Given the description of an element on the screen output the (x, y) to click on. 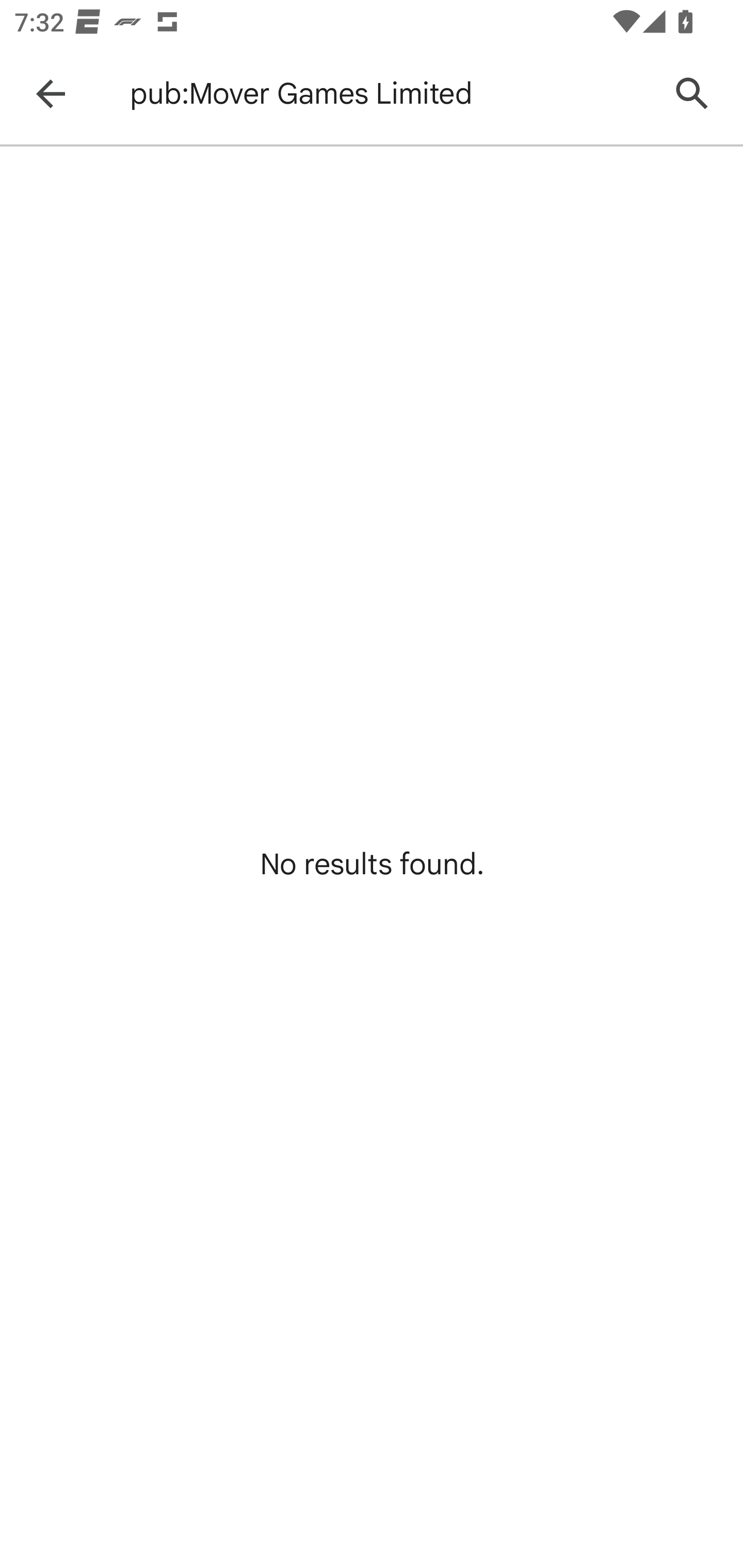
pub:Mover Games Limited (389, 93)
Navigate up (50, 93)
Search Google Play (692, 93)
